Given the description of an element on the screen output the (x, y) to click on. 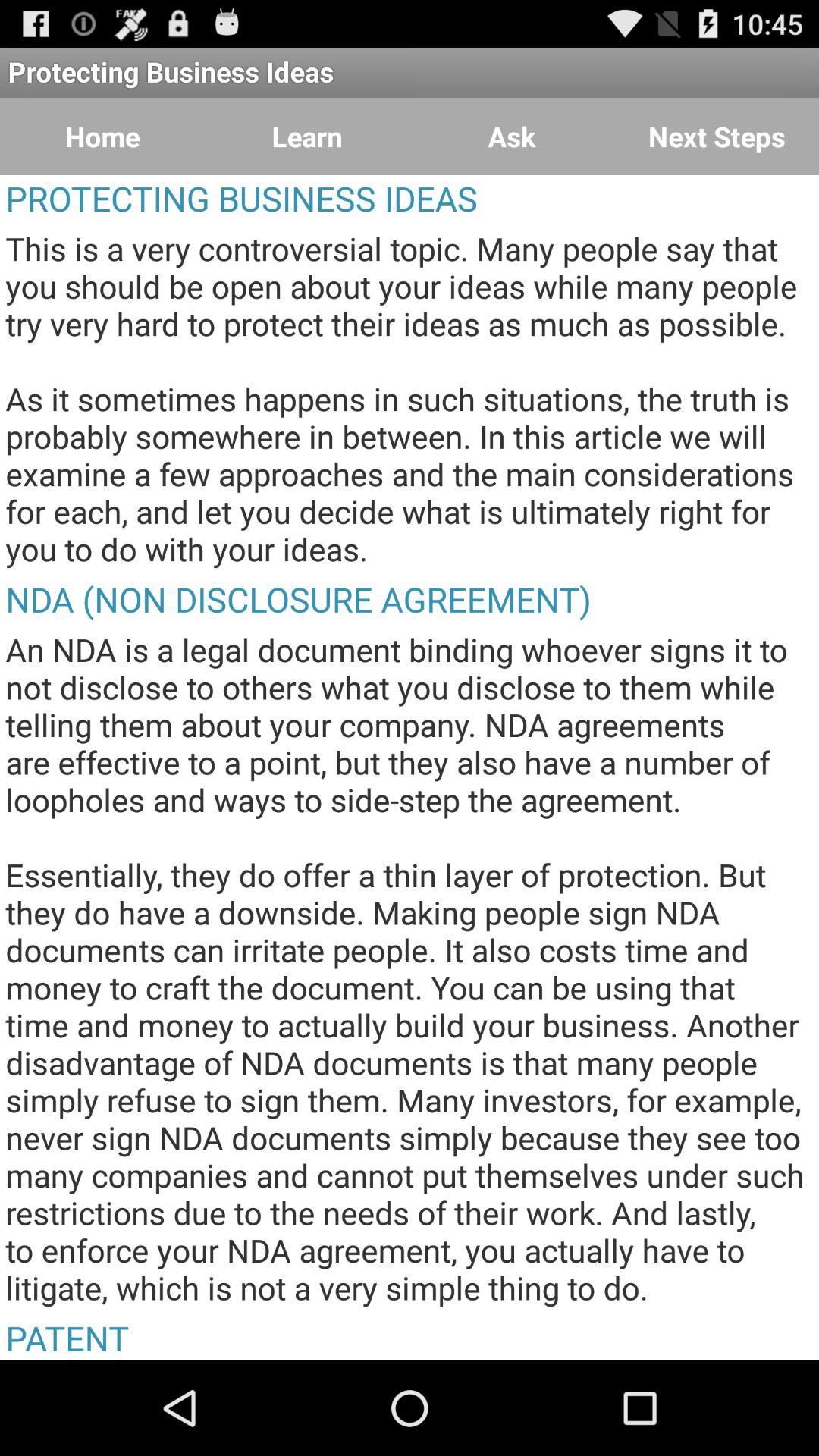
select item above the protecting business ideas item (306, 136)
